Given the description of an element on the screen output the (x, y) to click on. 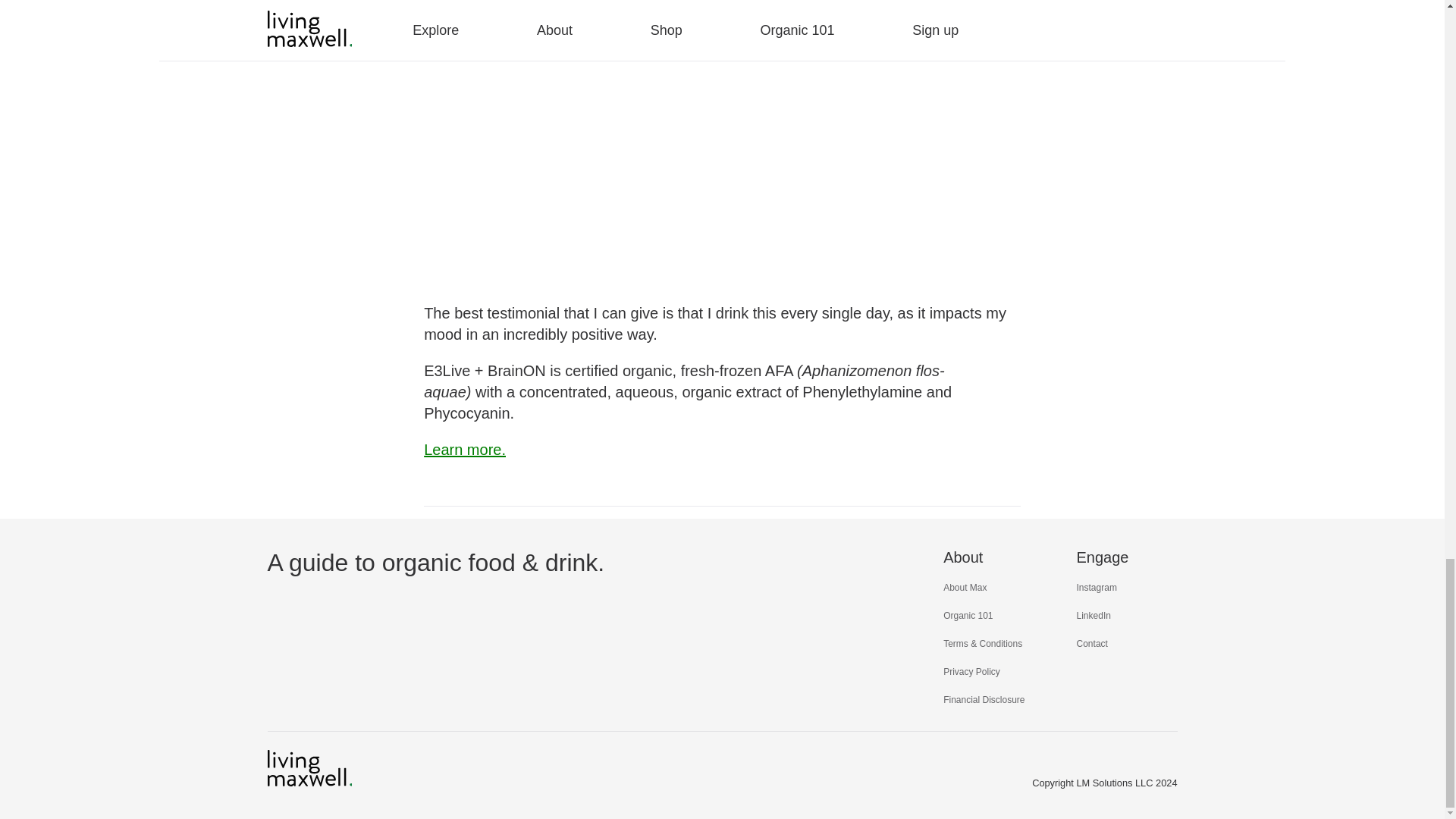
Contact (1092, 643)
About Max (965, 587)
LinkedIn (1093, 615)
Organic 101 (967, 615)
Financial Disclosure (984, 699)
Learn more. (464, 449)
Instagram (1096, 587)
Privacy Policy (971, 671)
